Given the description of an element on the screen output the (x, y) to click on. 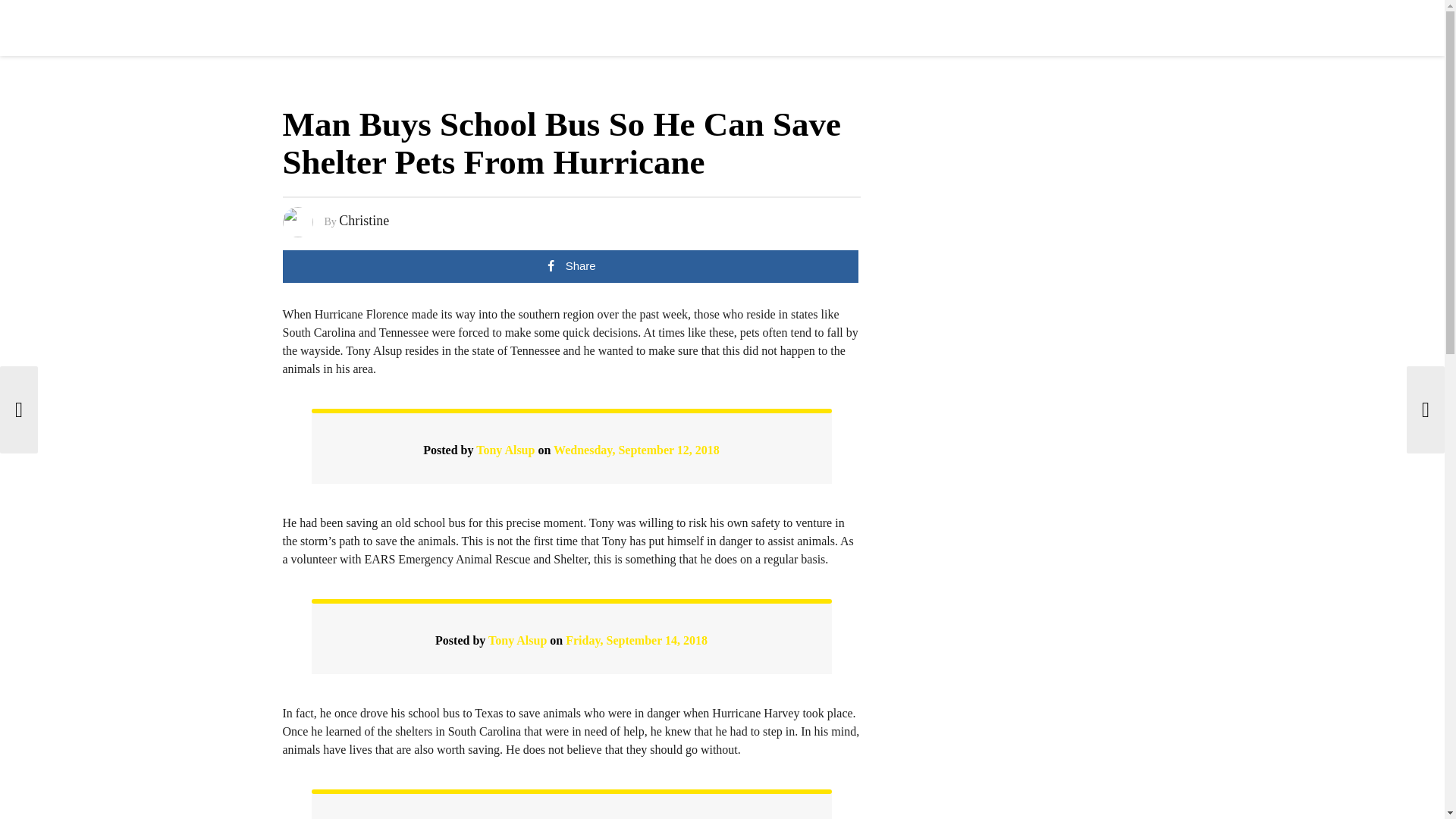
Wednesday, September 12, 2018 (636, 449)
Friday, September 14, 2018 (636, 640)
Share (569, 266)
Tony Alsup (505, 449)
Christine (363, 220)
Tony Alsup (517, 640)
